Given the description of an element on the screen output the (x, y) to click on. 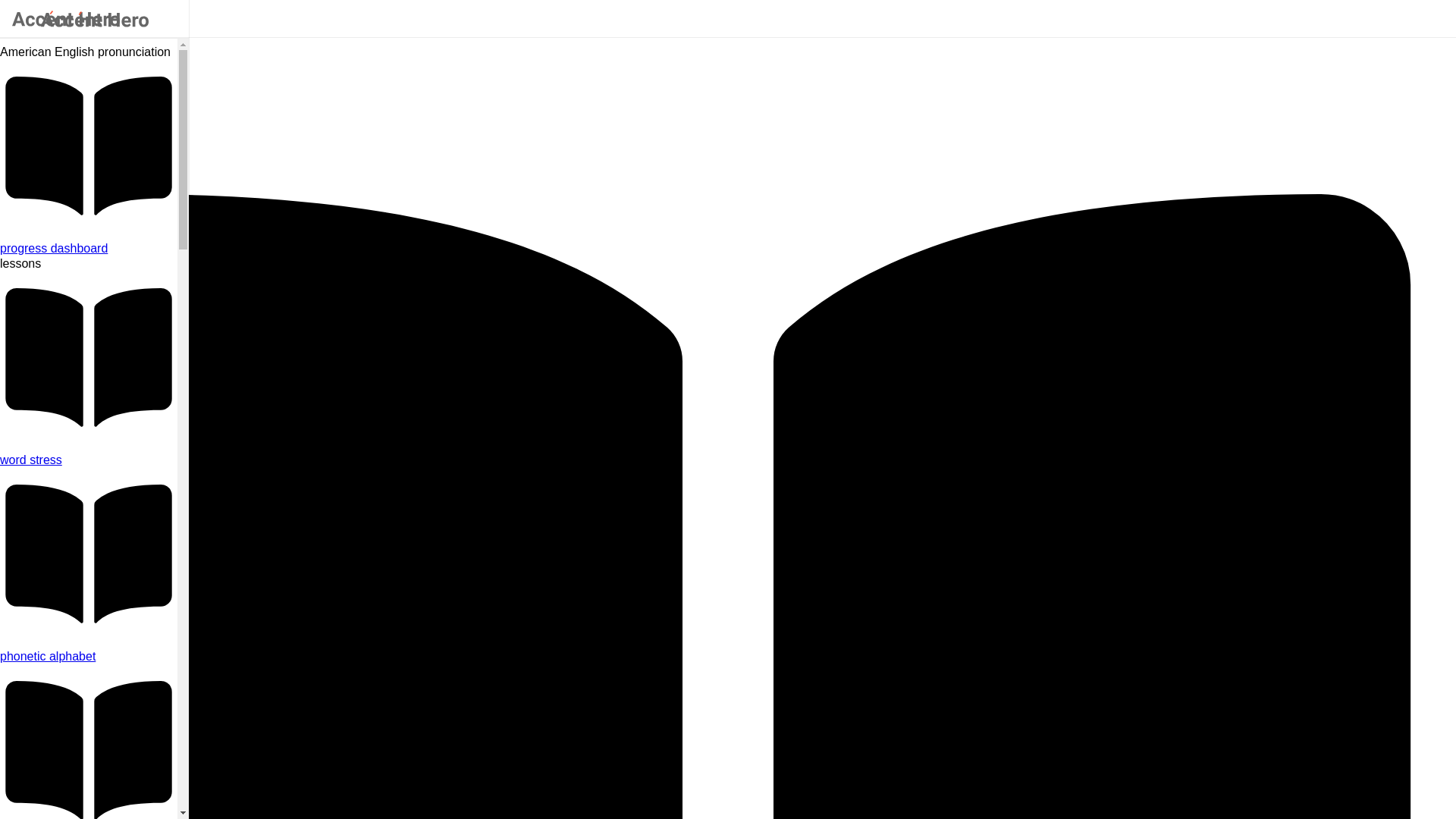
Learn to precisely articulate each sound (88, 656)
Learn how word stress influences your accent (88, 459)
